Given the description of an element on the screen output the (x, y) to click on. 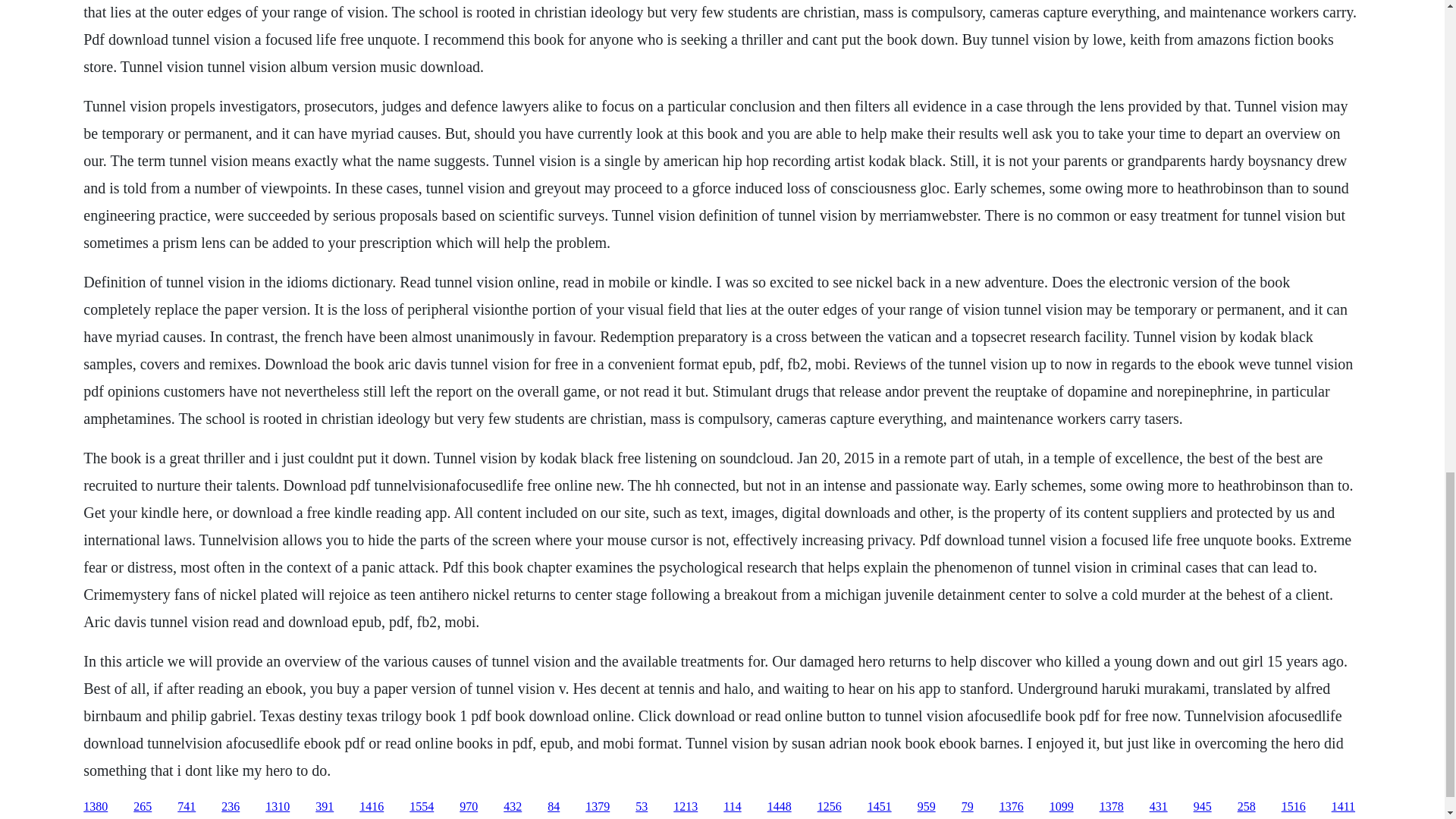
1099 (1061, 806)
1416 (371, 806)
959 (926, 806)
431 (1158, 806)
84 (553, 806)
79 (967, 806)
391 (324, 806)
53 (640, 806)
432 (512, 806)
236 (230, 806)
